Given the description of an element on the screen output the (x, y) to click on. 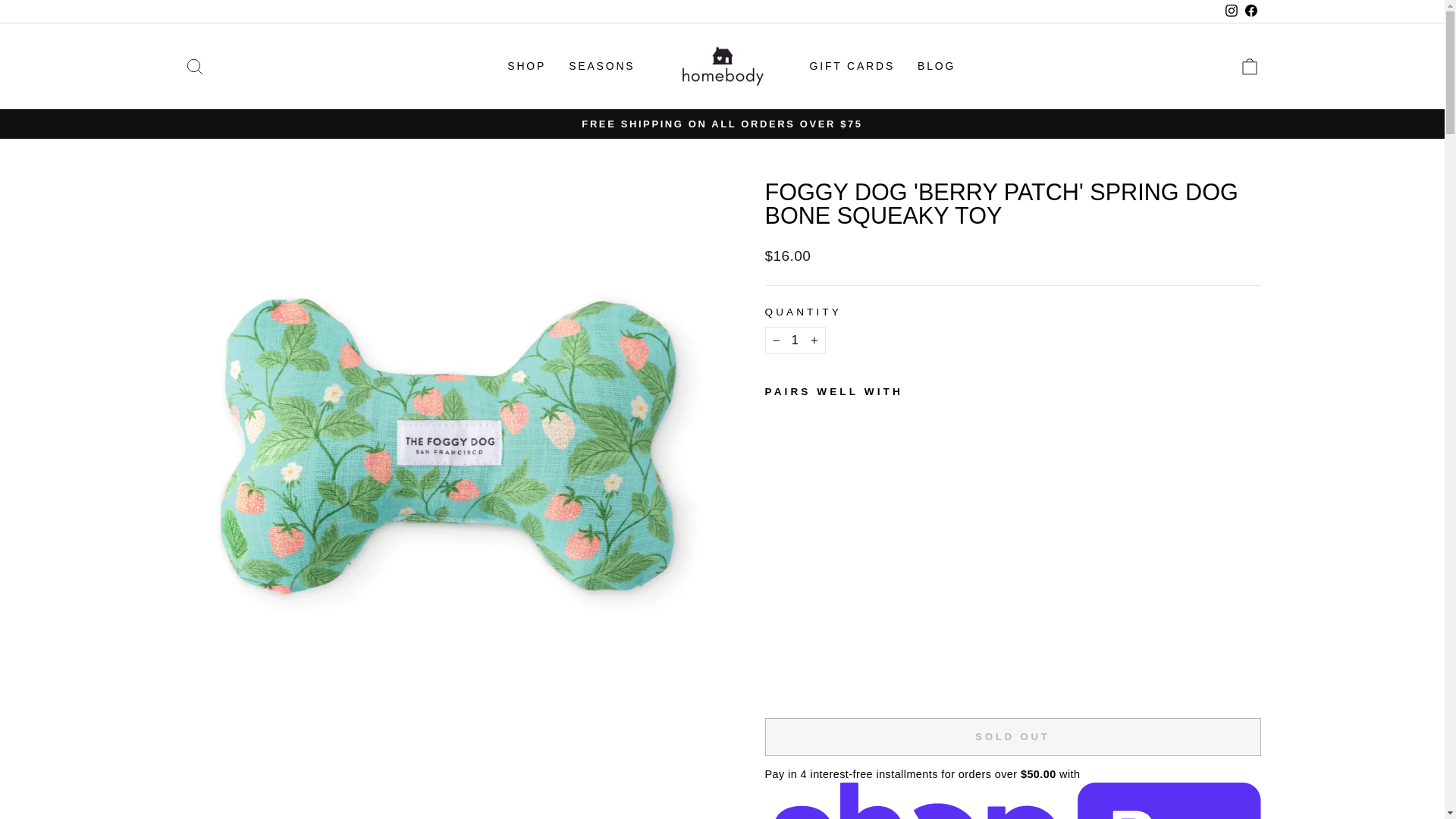
SHOP (526, 66)
1 (794, 339)
SEARCH (194, 65)
